Given the description of an element on the screen output the (x, y) to click on. 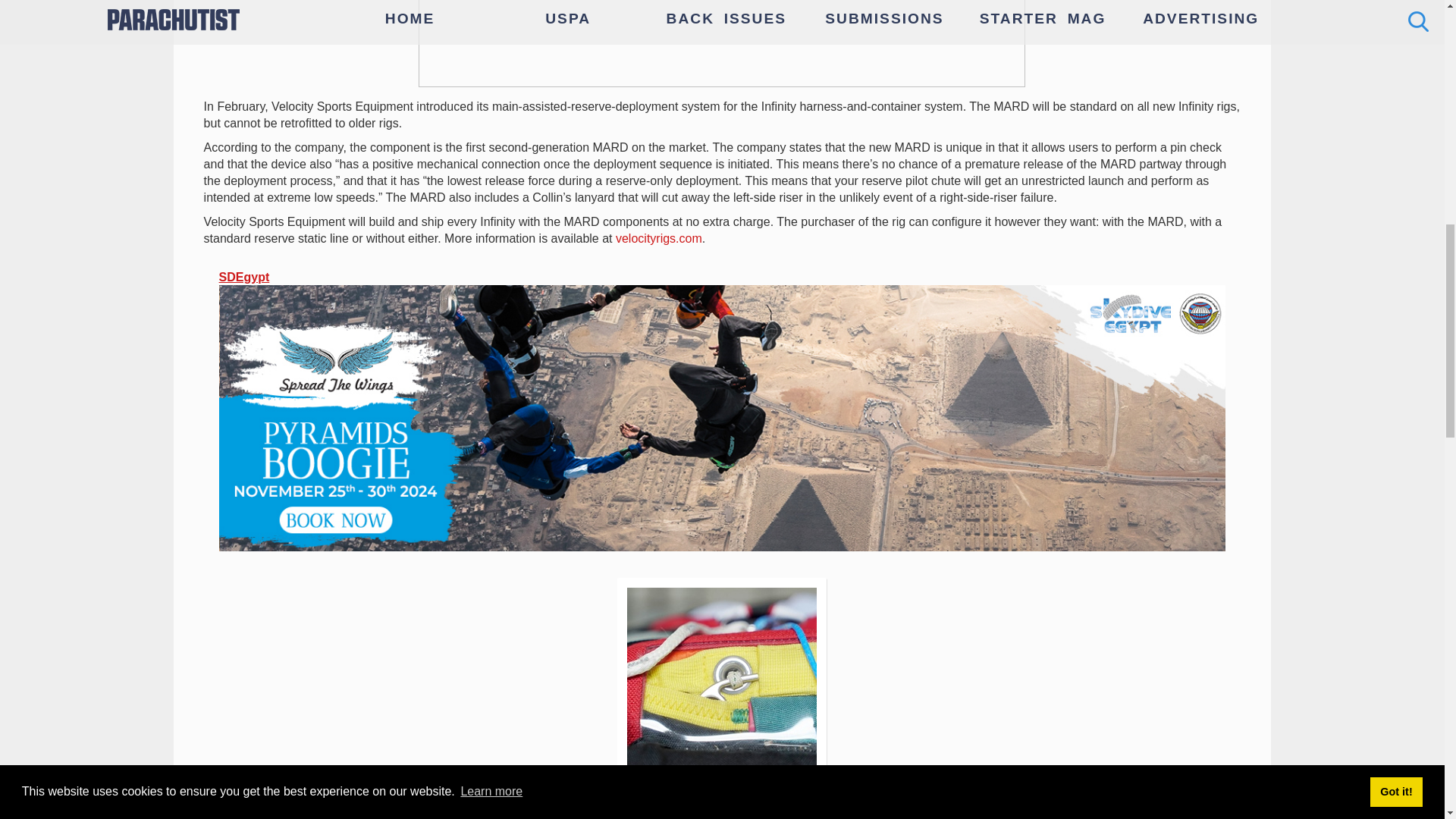
velocityrigs.com (658, 237)
SDEgypt (244, 277)
